Given the description of an element on the screen output the (x, y) to click on. 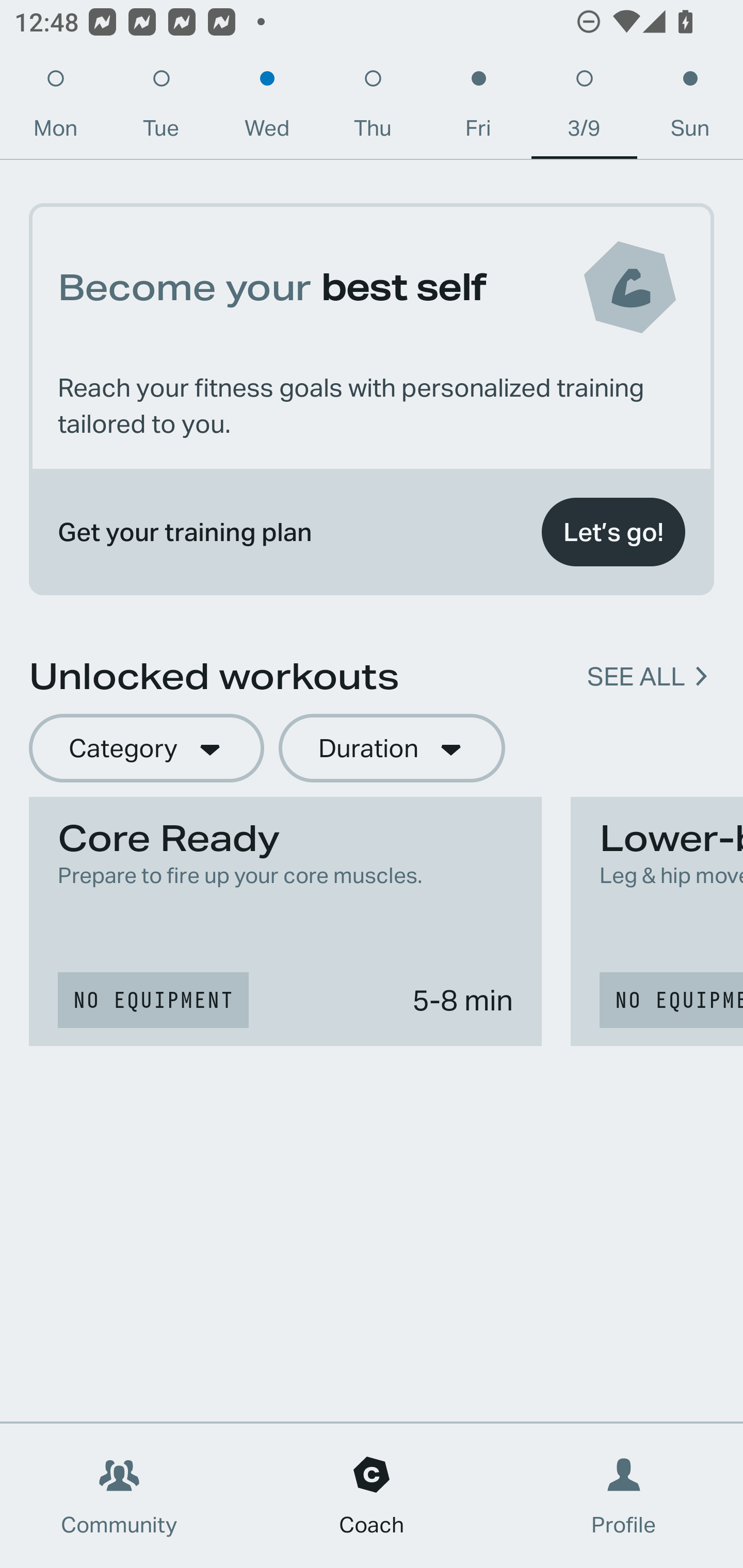
Mon (55, 108)
Tue (160, 108)
Wed (266, 108)
Thu (372, 108)
Fri (478, 108)
3/9 (584, 108)
Sun (690, 108)
Let’s go! (613, 532)
SEE ALL (635, 676)
Category (146, 748)
Duration (391, 748)
Community (119, 1495)
Profile (624, 1495)
